Given the description of an element on the screen output the (x, y) to click on. 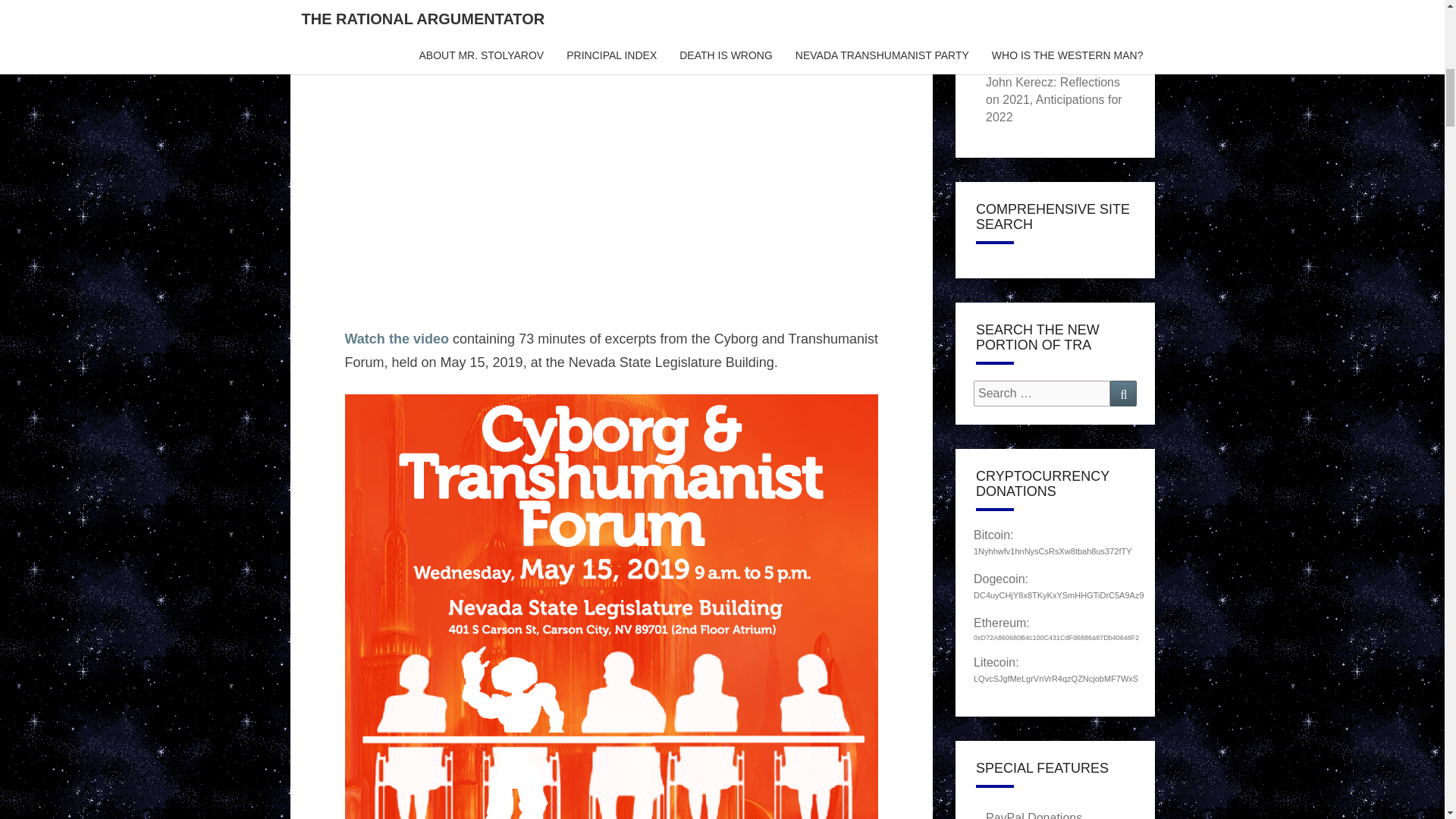
Search for: (1041, 393)
Watch the video (395, 338)
